Given the description of an element on the screen output the (x, y) to click on. 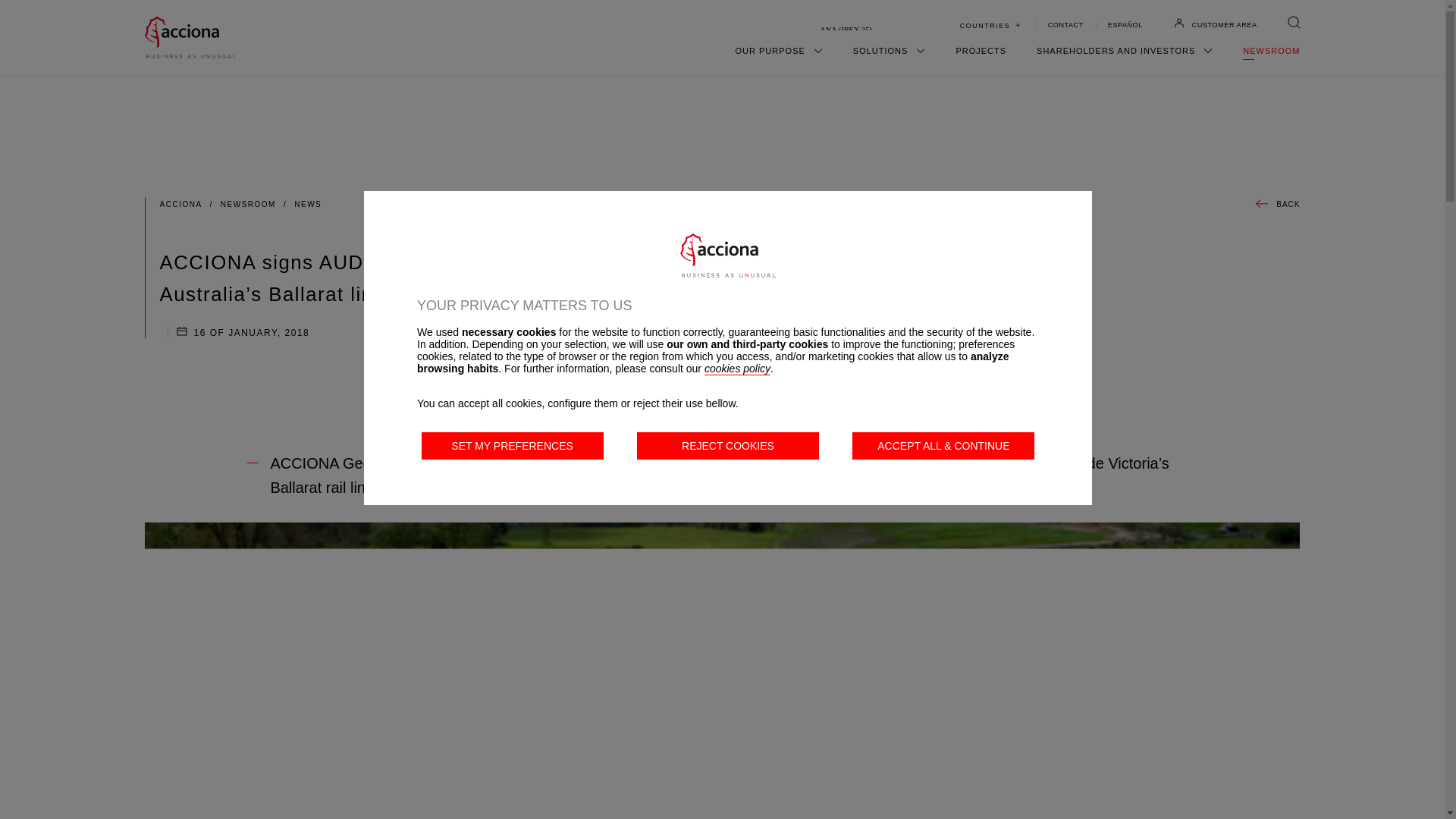
SET MY PREFERENCES (513, 445)
cookies policy (737, 368)
Logo Acciona (727, 254)
REJECT COOKIES (727, 445)
